Given the description of an element on the screen output the (x, y) to click on. 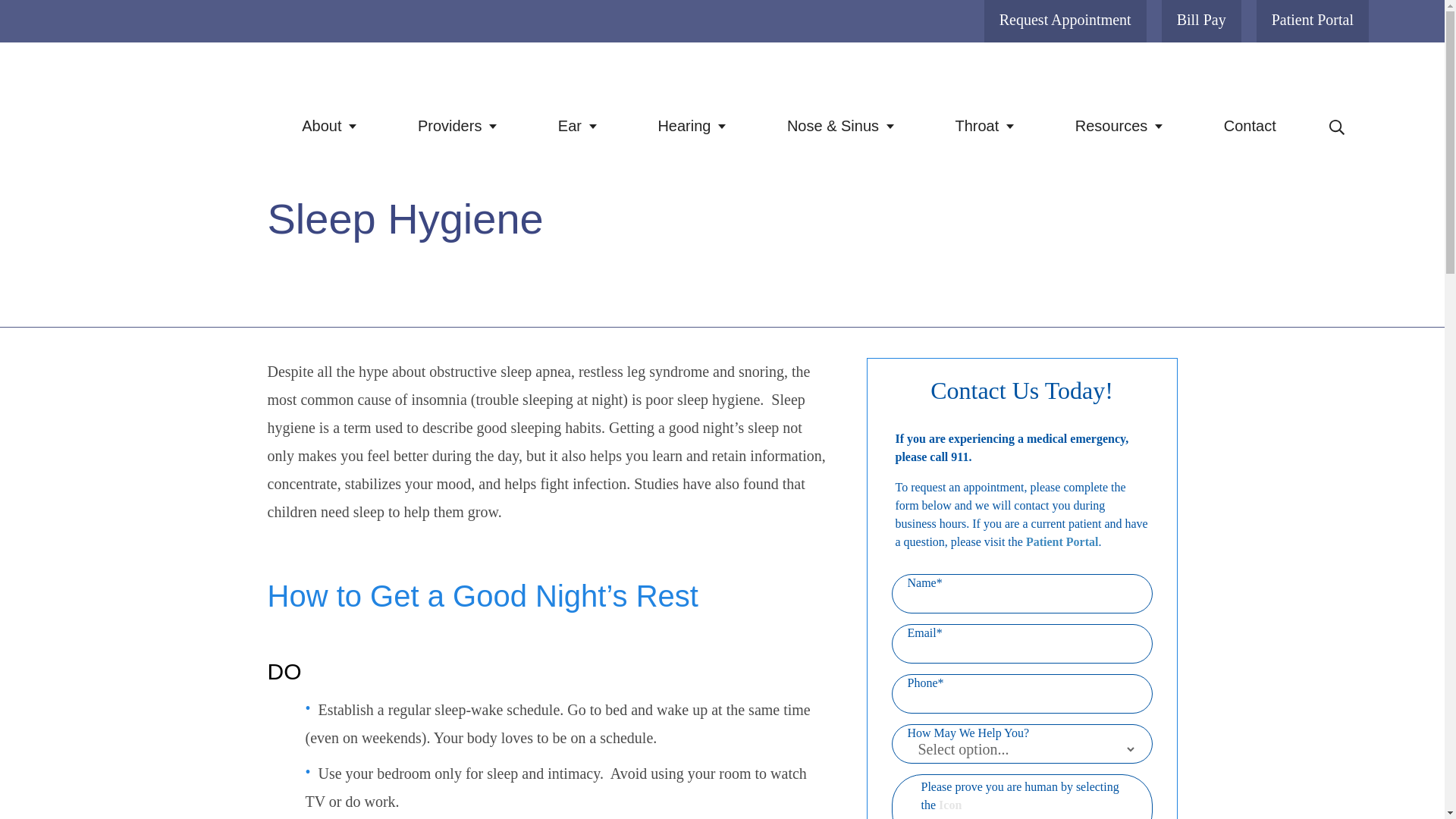
About (329, 125)
Patient Portal (1312, 21)
Hearing (691, 125)
Request Appointment (1065, 21)
Providers (456, 125)
Bill Pay (1201, 21)
Ear (577, 125)
